Given the description of an element on the screen output the (x, y) to click on. 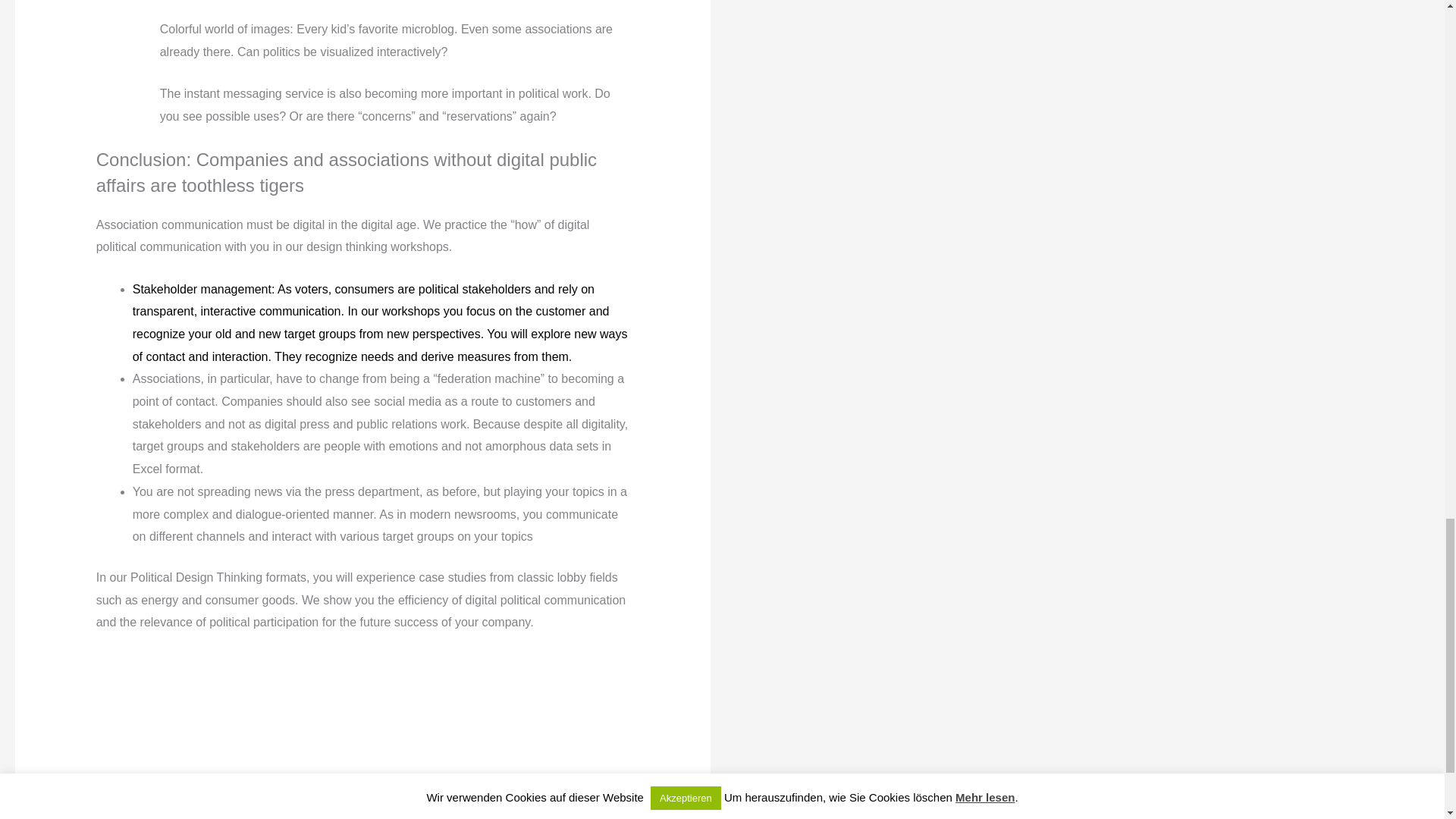
Direkt hier in unserem Shop bestellen (362, 798)
